Given the description of an element on the screen output the (x, y) to click on. 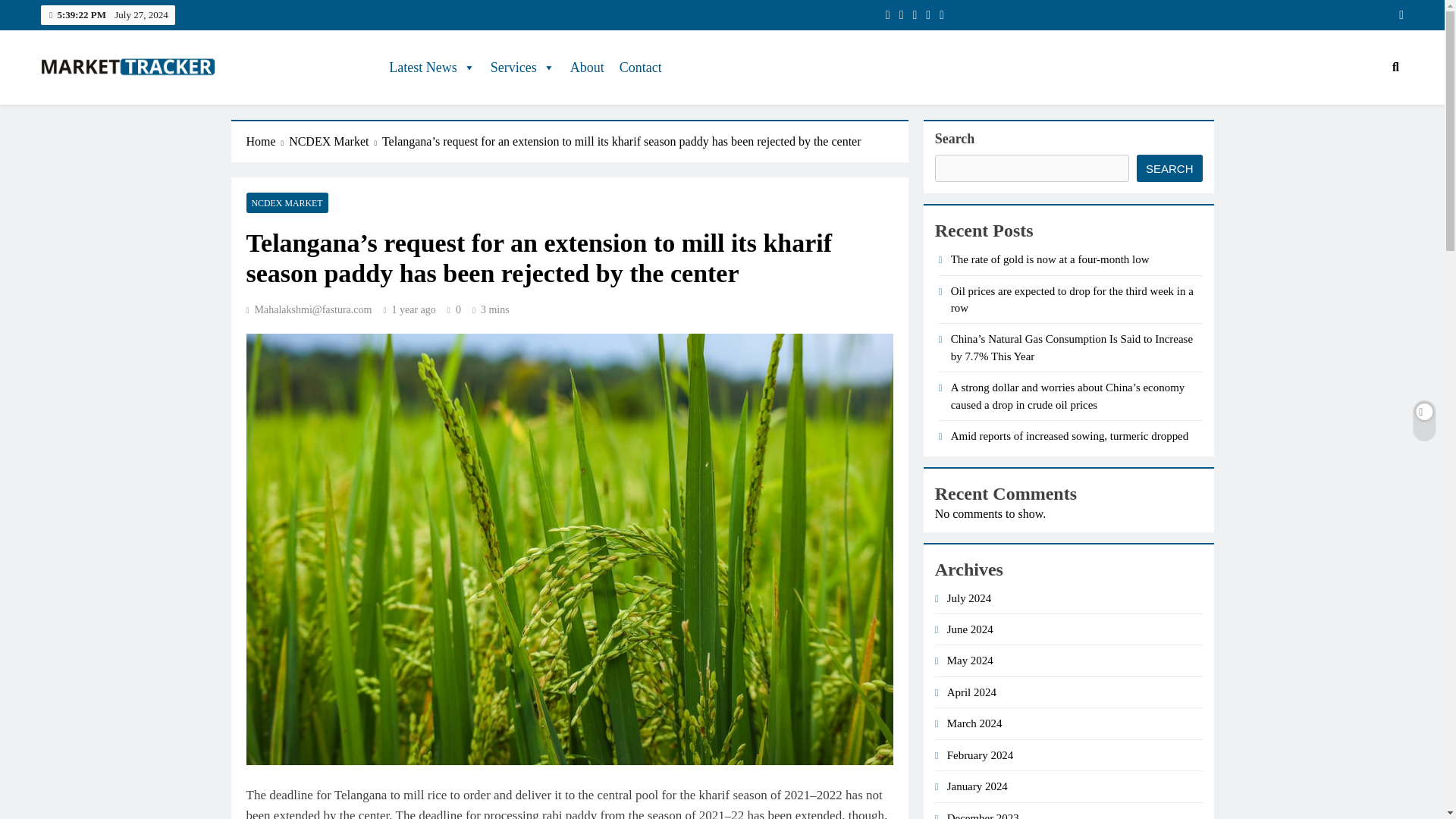
Latest News (431, 67)
Market-Tracker (122, 105)
Services (522, 67)
